Given the description of an element on the screen output the (x, y) to click on. 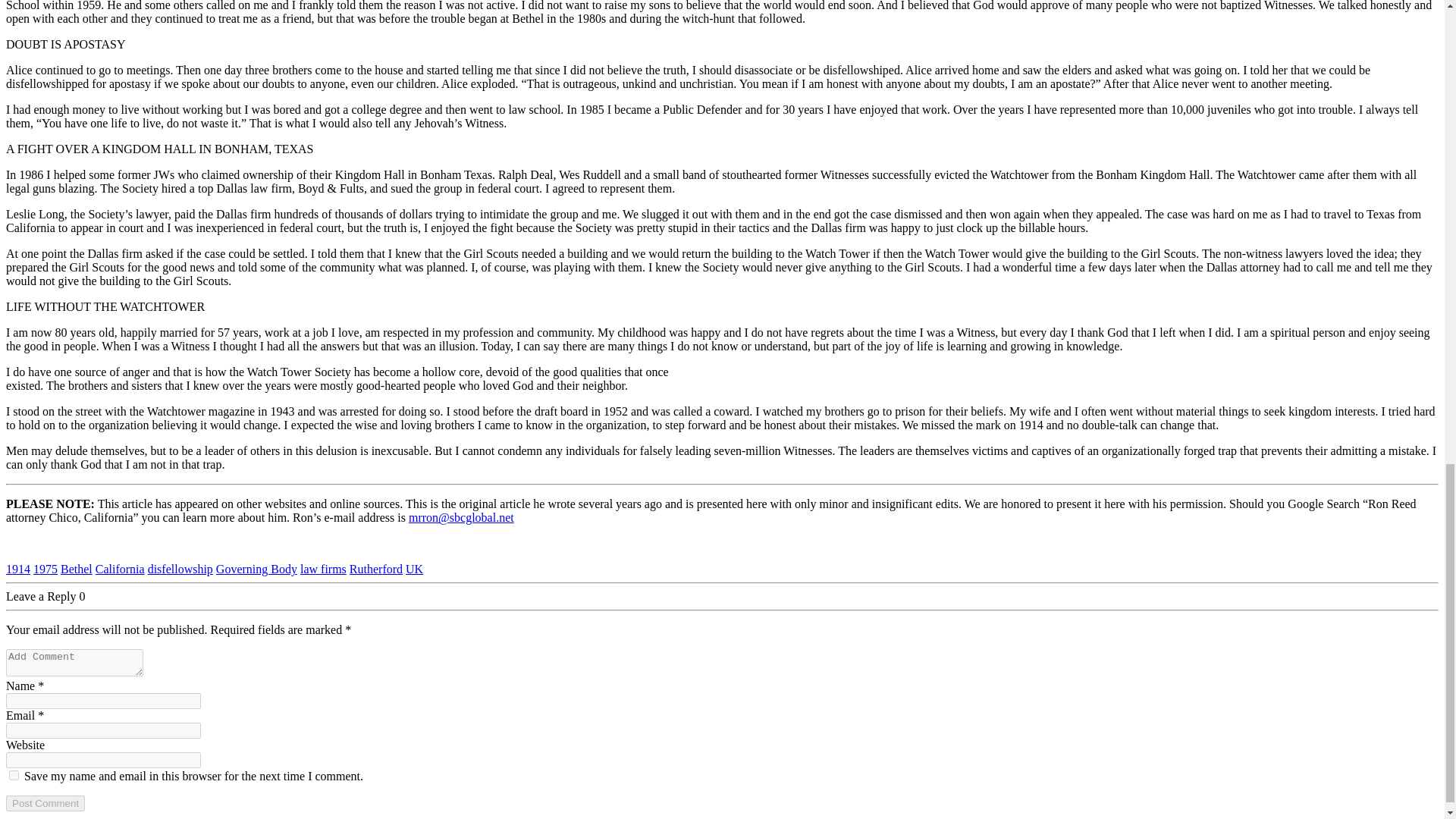
Post Comment (44, 803)
yes (13, 775)
